Given the description of an element on the screen output the (x, y) to click on. 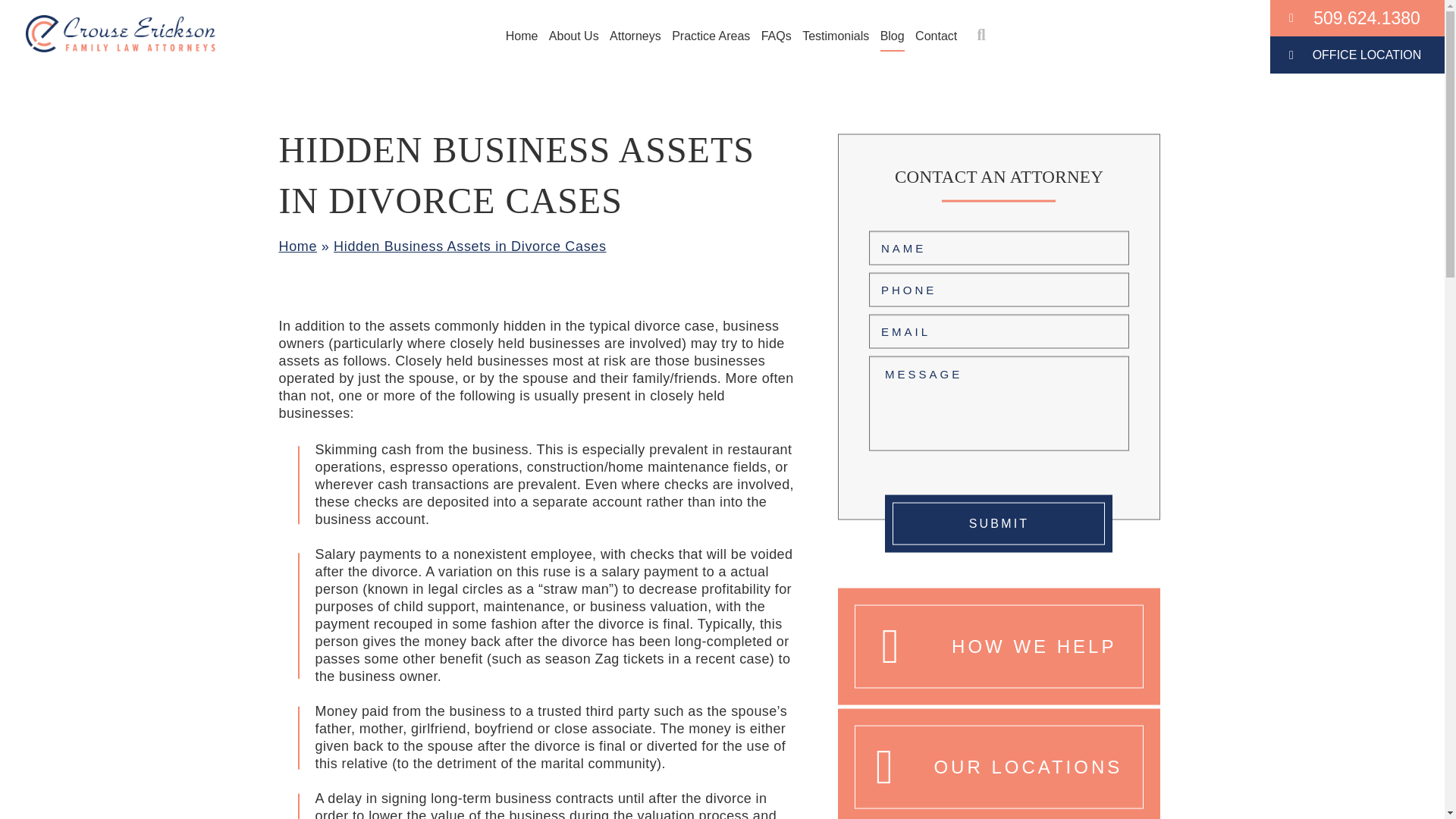
Practice Areas (710, 36)
Home (521, 36)
Attorneys (635, 36)
About Us (573, 36)
